Given the description of an element on the screen output the (x, y) to click on. 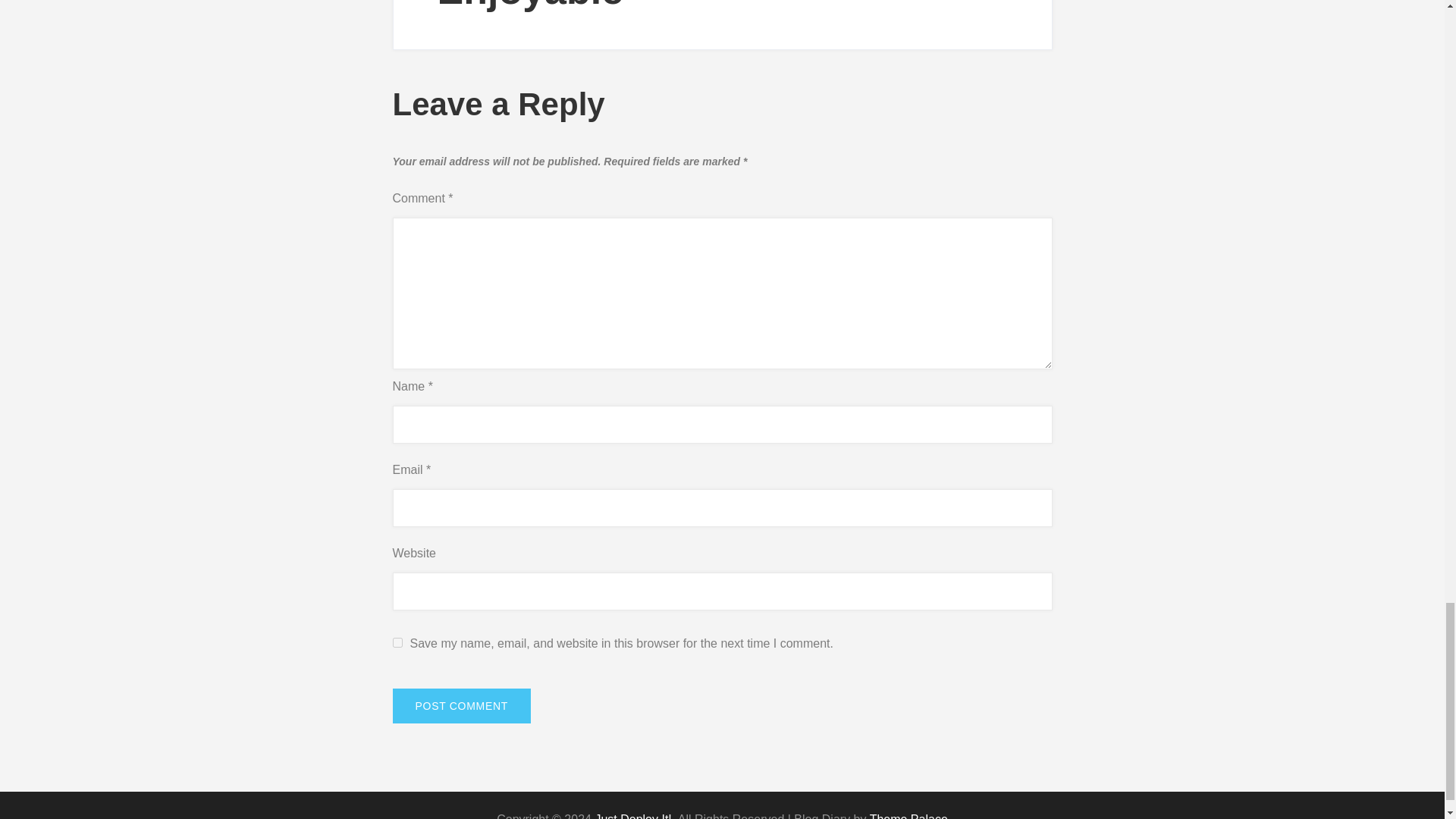
Post Comment (462, 705)
yes (398, 642)
Just Deploy It! (632, 816)
Post Comment (462, 705)
Theme Palace (908, 816)
